Given the description of an element on the screen output the (x, y) to click on. 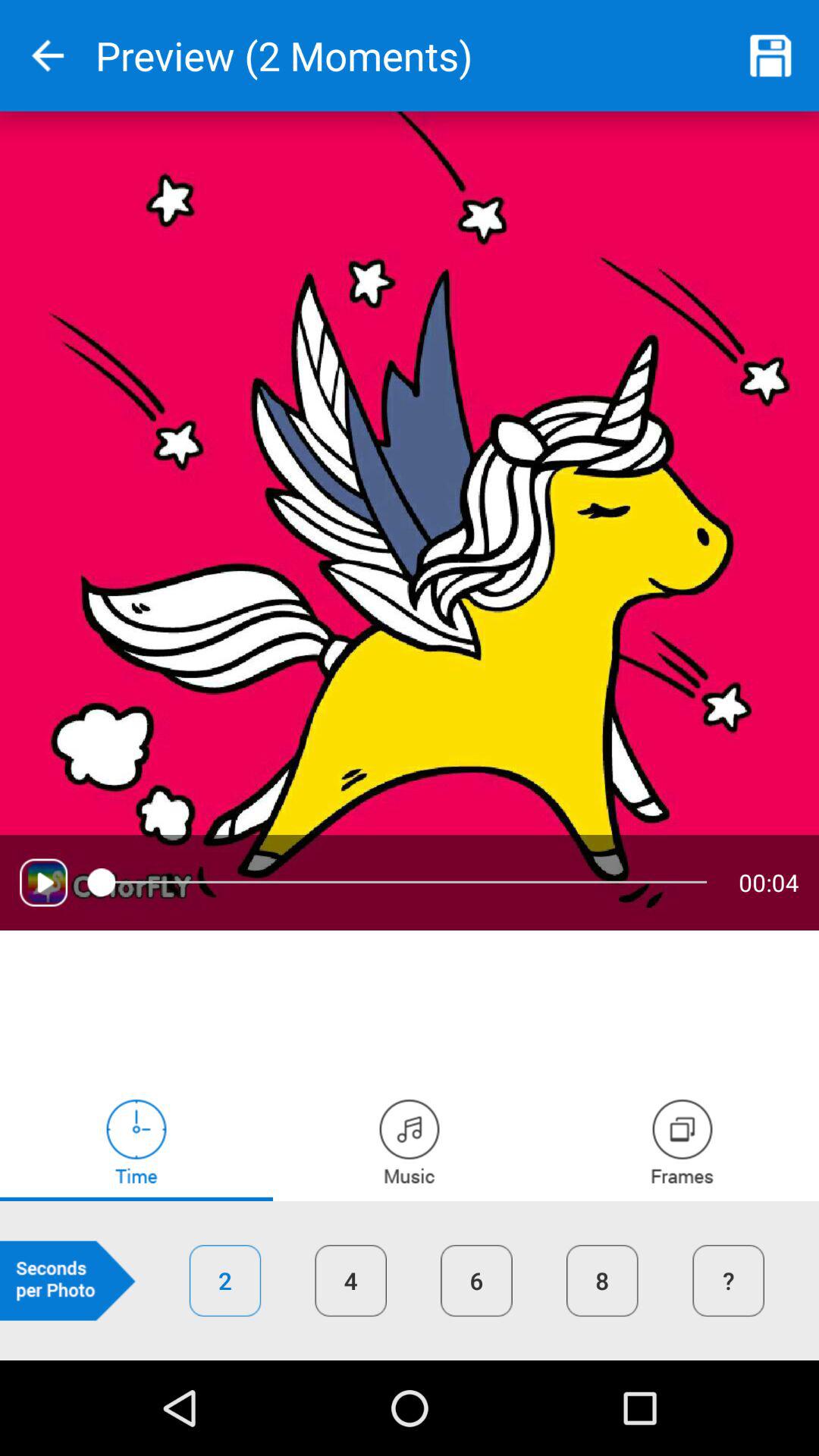
adjust play time (136, 1141)
